Given the description of an element on the screen output the (x, y) to click on. 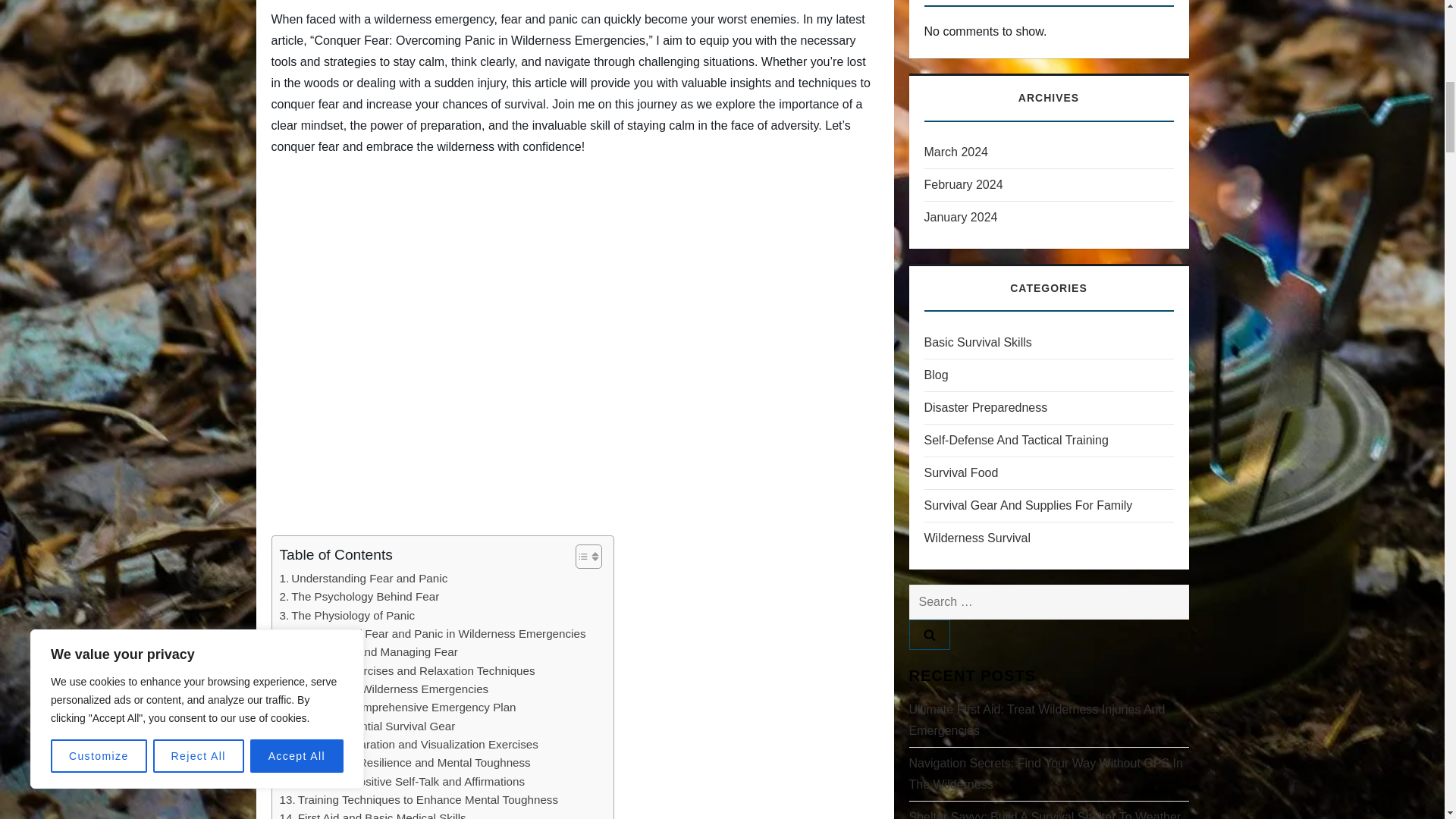
Preparing for Wilderness Emergencies (383, 689)
Recognizing and Managing Fear (368, 651)
Packing Essential Survival Gear (366, 726)
Recognizing and Managing Fear (368, 651)
Creating a Comprehensive Emergency Plan (397, 707)
Training Techniques to Enhance Mental Toughness (418, 800)
The Physiology of Panic (346, 615)
Breathing Exercises and Relaxation Techniques (406, 670)
First Aid and Basic Medical Skills (372, 814)
The Psychology Behind Fear (359, 597)
The Psychology Behind Fear (359, 597)
Understanding Fear and Panic (362, 578)
Breathing Exercises and Relaxation Techniques (406, 670)
The Impact of Fear and Panic in Wilderness Emergencies (432, 633)
The Physiology of Panic (346, 615)
